Given the description of an element on the screen output the (x, y) to click on. 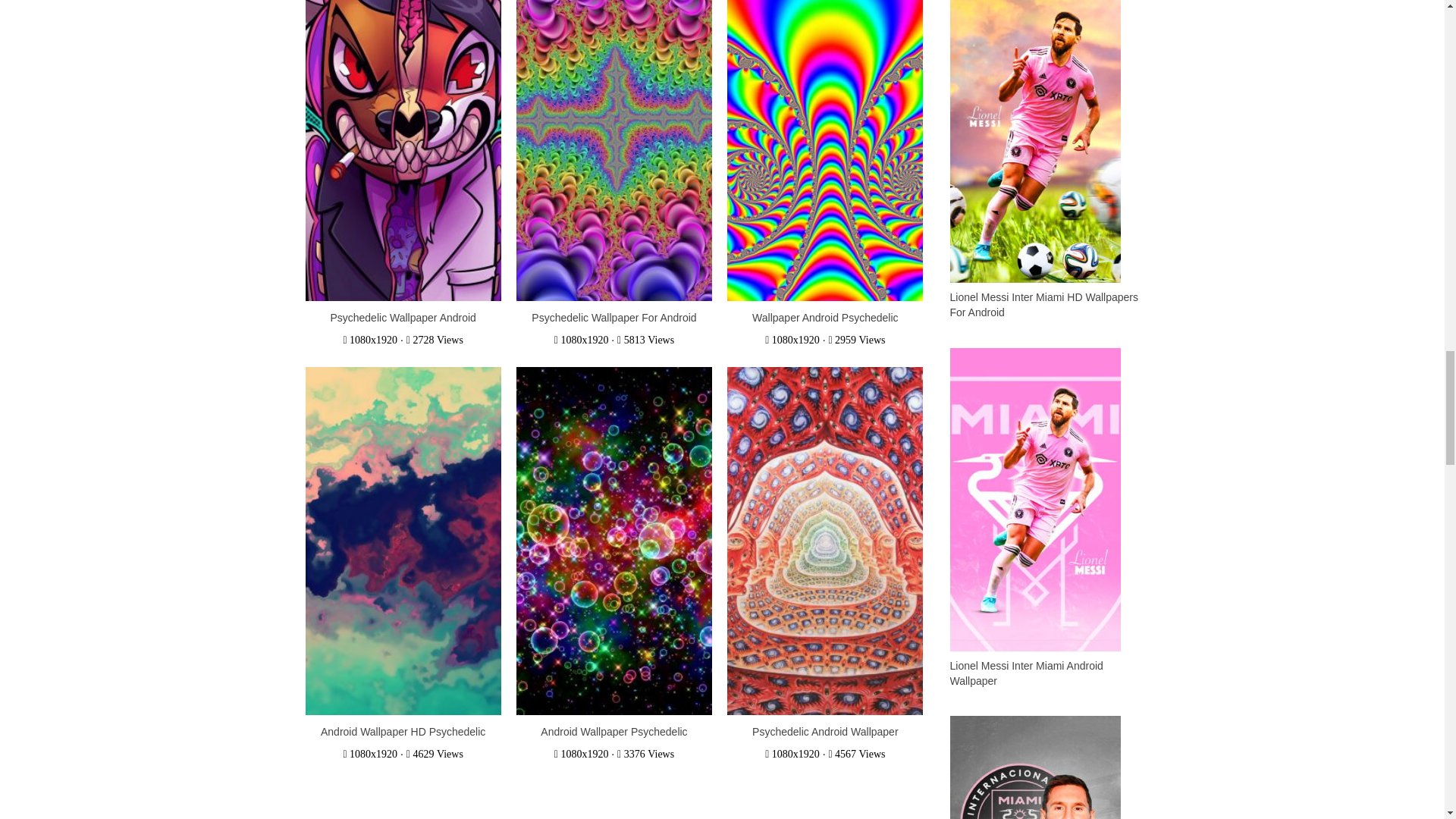
Psychedelic Wallpaper For Android (613, 317)
Android Wallpaper HD Psychedelic (402, 731)
Android Wallpaper Psychedelic (613, 731)
Wallpaper Android Psychedelic (824, 128)
Psychedelic Wallpaper Android (403, 317)
Psychedelic Wallpaper For Android (613, 317)
Psychedelic Wallpaper Android (402, 128)
Psychedelic Wallpaper Android (403, 317)
Wallpaper Android Psychedelic (825, 317)
Psychedelic Wallpaper For Android (613, 128)
